Given the description of an element on the screen output the (x, y) to click on. 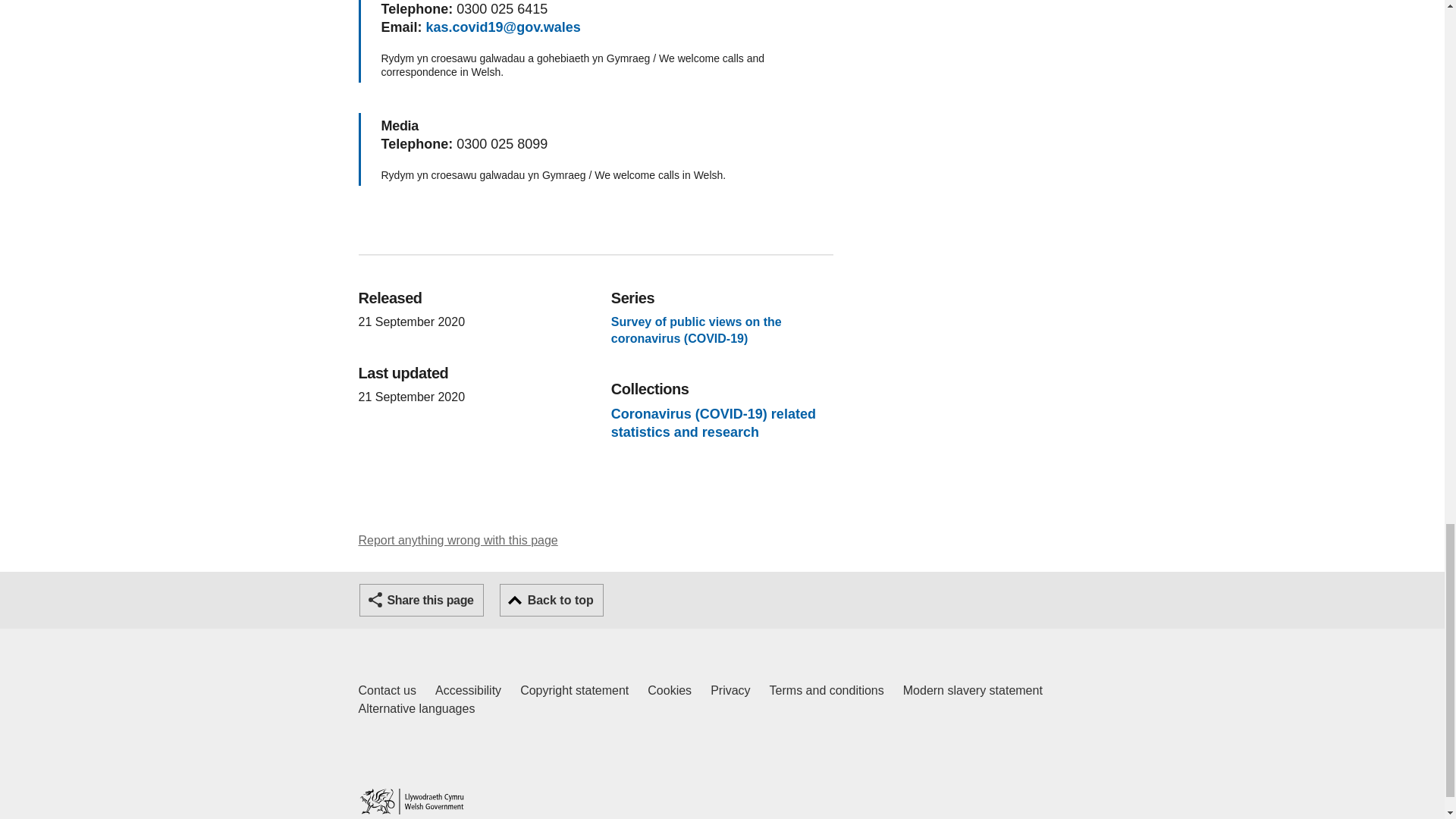
Alternative languages (416, 709)
Terms and conditions (386, 690)
Privacy (826, 690)
Modern slavery statement (729, 690)
Back to top (972, 690)
Accessibility (551, 599)
Report anything wrong with this page (467, 690)
Cookies (457, 540)
Home (669, 690)
Share this page (411, 801)
Copyright statement (421, 599)
